Given the description of an element on the screen output the (x, y) to click on. 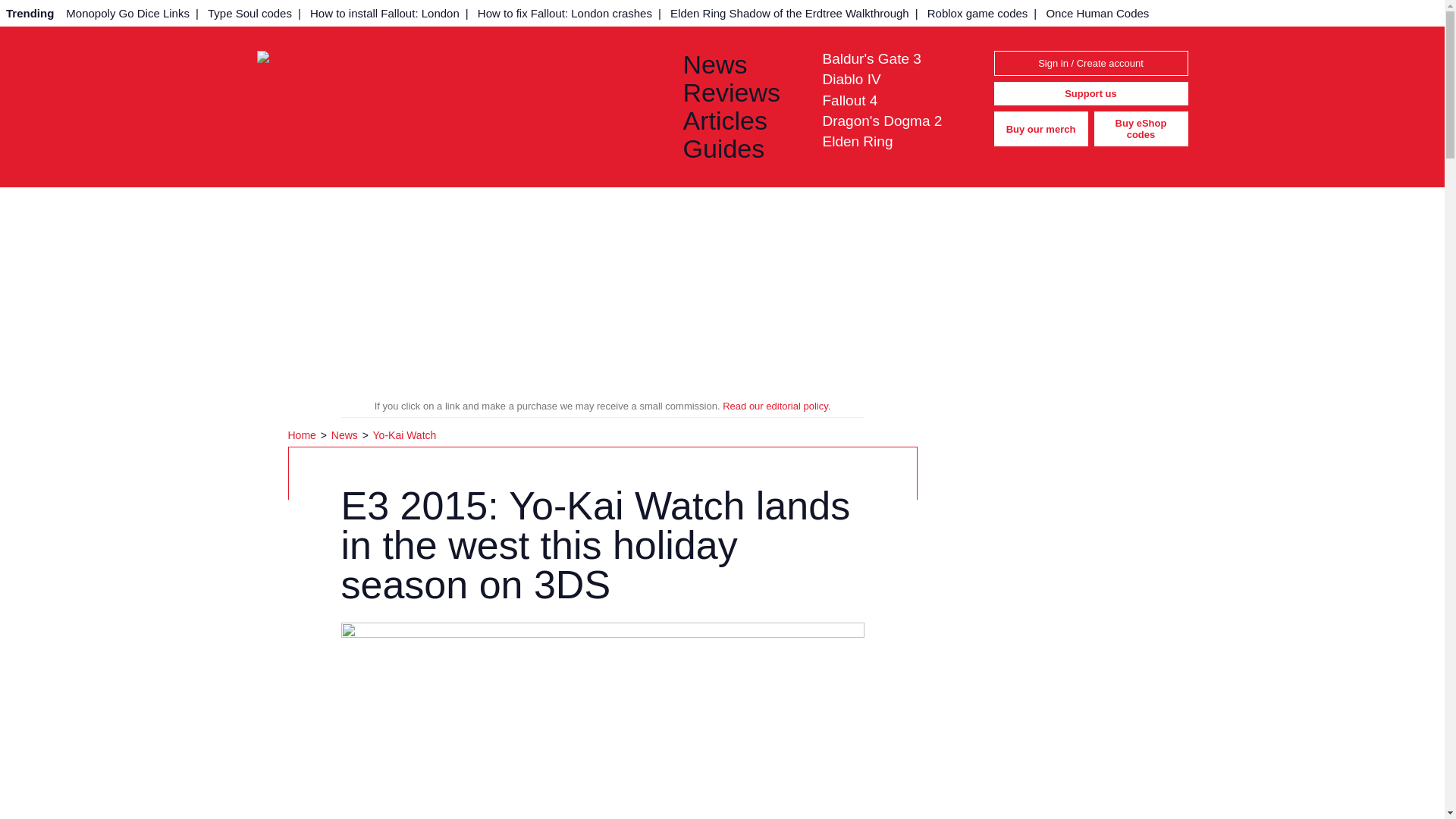
Baldur's Gate 3 (871, 58)
How to install Fallout: London (384, 13)
How to install Fallout: London (384, 13)
Baldur's Gate 3 (871, 58)
Elden Ring (857, 141)
Articles (739, 121)
Fallout 4 (849, 100)
Dragon's Dogma 2 (882, 120)
Fallout 4 (849, 100)
Buy eShop codes (1140, 128)
Guides (739, 148)
Read our editorial policy (775, 405)
How to fix Fallout: London crashes (564, 13)
Elden Ring Shadow of the Erdtree Walkthrough (789, 13)
Monopoly Go Dice Links (127, 13)
